Given the description of an element on the screen output the (x, y) to click on. 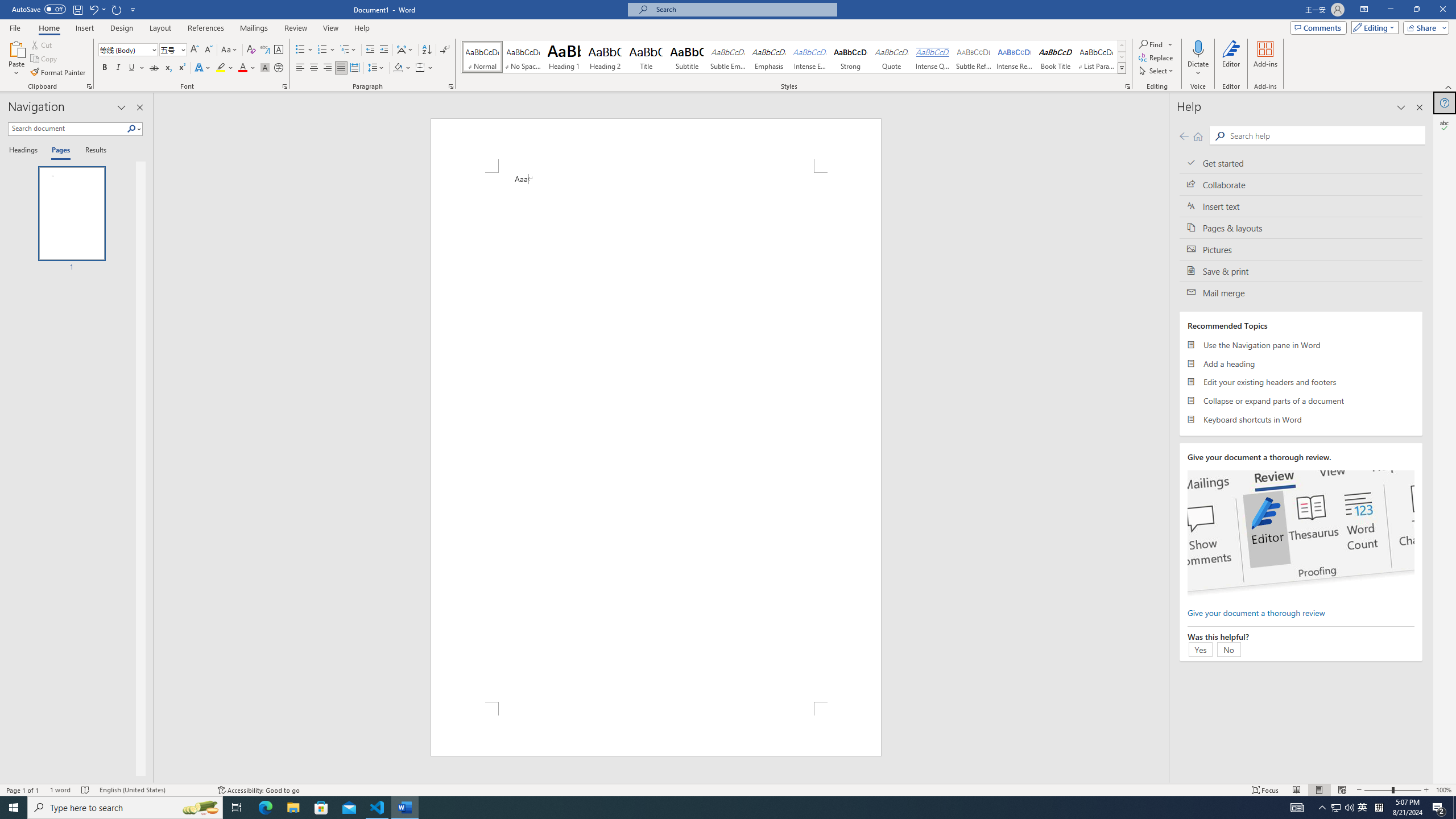
No (1228, 649)
Mail merge (1300, 292)
